Given the description of an element on the screen output the (x, y) to click on. 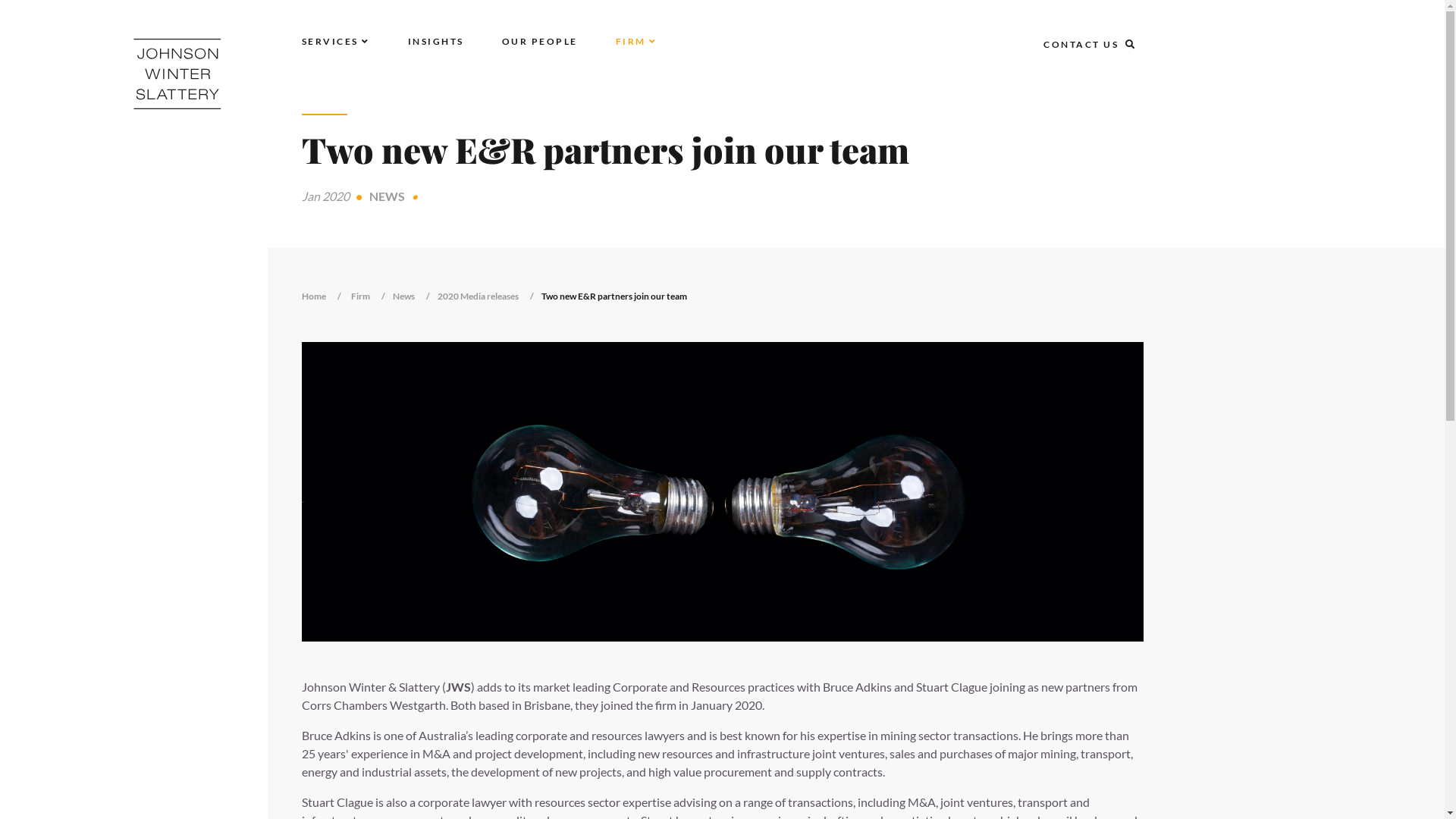
Search Element type: text (27, 14)
SERVICES Element type: text (335, 41)
INSIGHTS Element type: text (435, 41)
2020 Media releases Element type: text (488, 296)
News Element type: text (414, 296)
OUR PEOPLE Element type: text (539, 41)
Johnson Winter Slattery Element type: hover (176, 73)
FIRM Element type: text (636, 41)
CONTACT US Element type: text (1080, 44)
Home Element type: text (324, 296)
Firm Element type: text (371, 296)
